Given the description of an element on the screen output the (x, y) to click on. 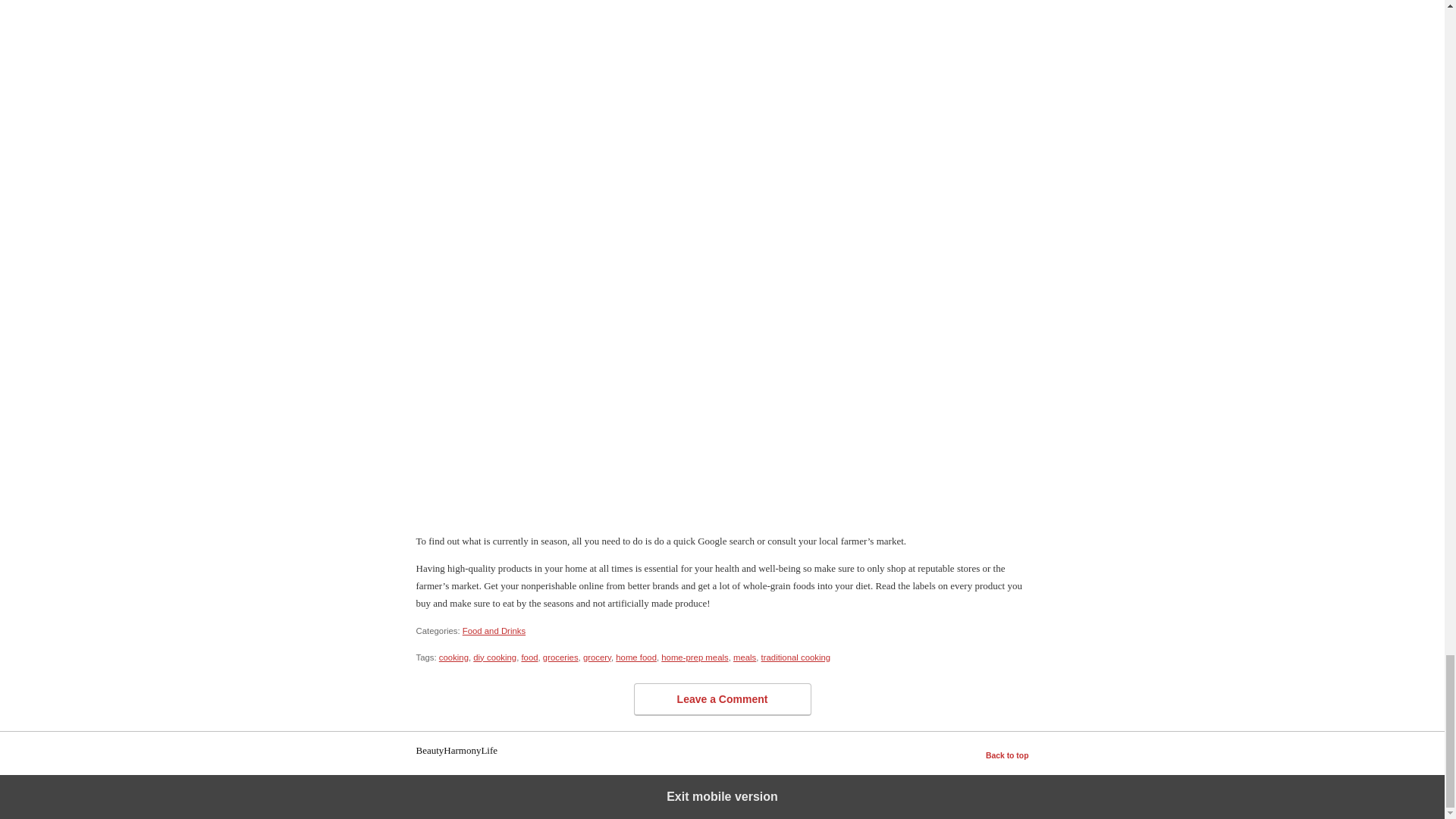
diy cooking (494, 656)
Back to top (1007, 756)
cooking (453, 656)
meals (744, 656)
Leave a Comment (721, 699)
traditional cooking (796, 656)
Food and Drinks (494, 630)
home food (635, 656)
groceries (560, 656)
